Given the description of an element on the screen output the (x, y) to click on. 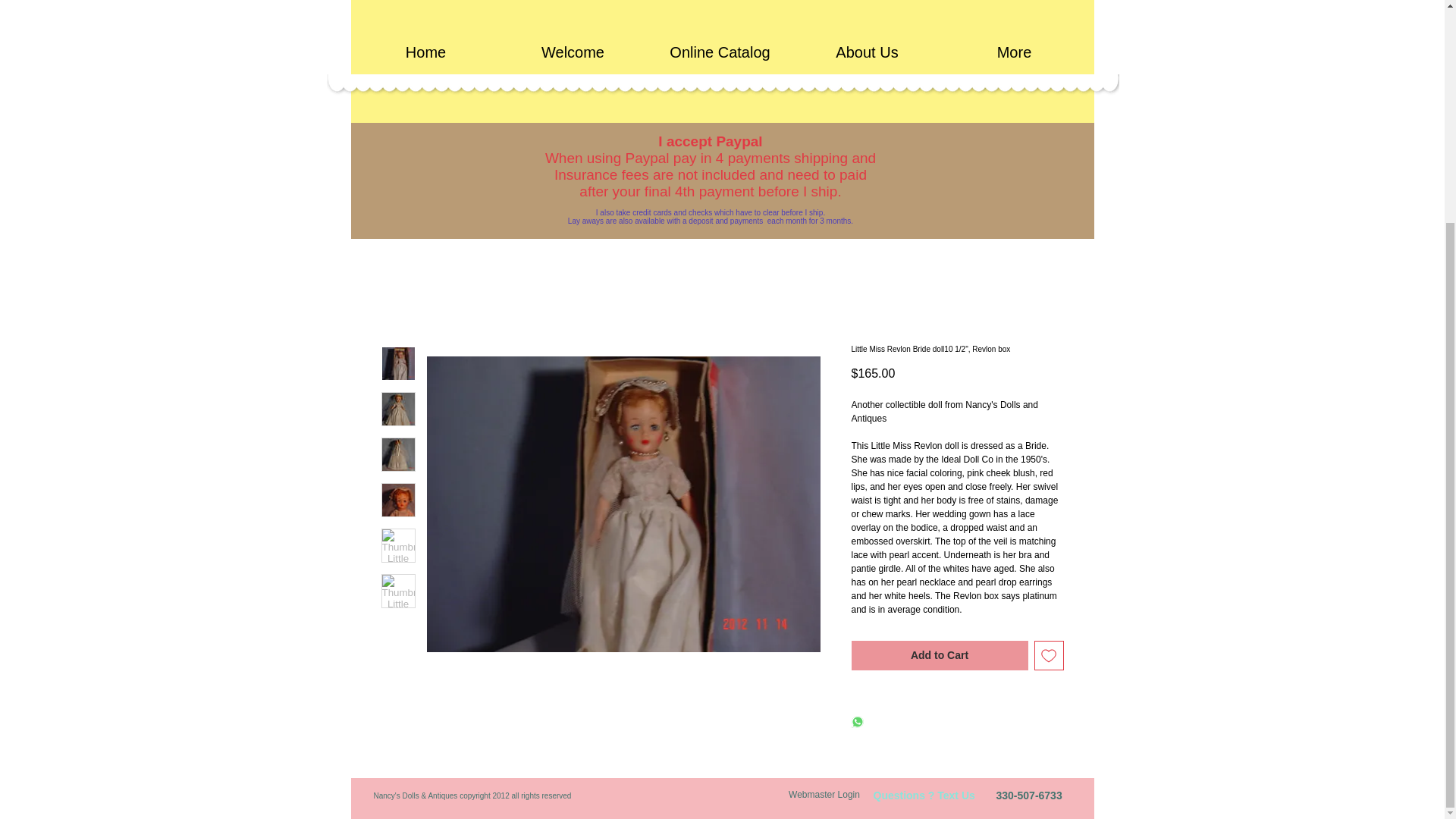
About Us (866, 52)
Home (425, 52)
Online Catalog (719, 52)
Welcome (572, 52)
